Given the description of an element on the screen output the (x, y) to click on. 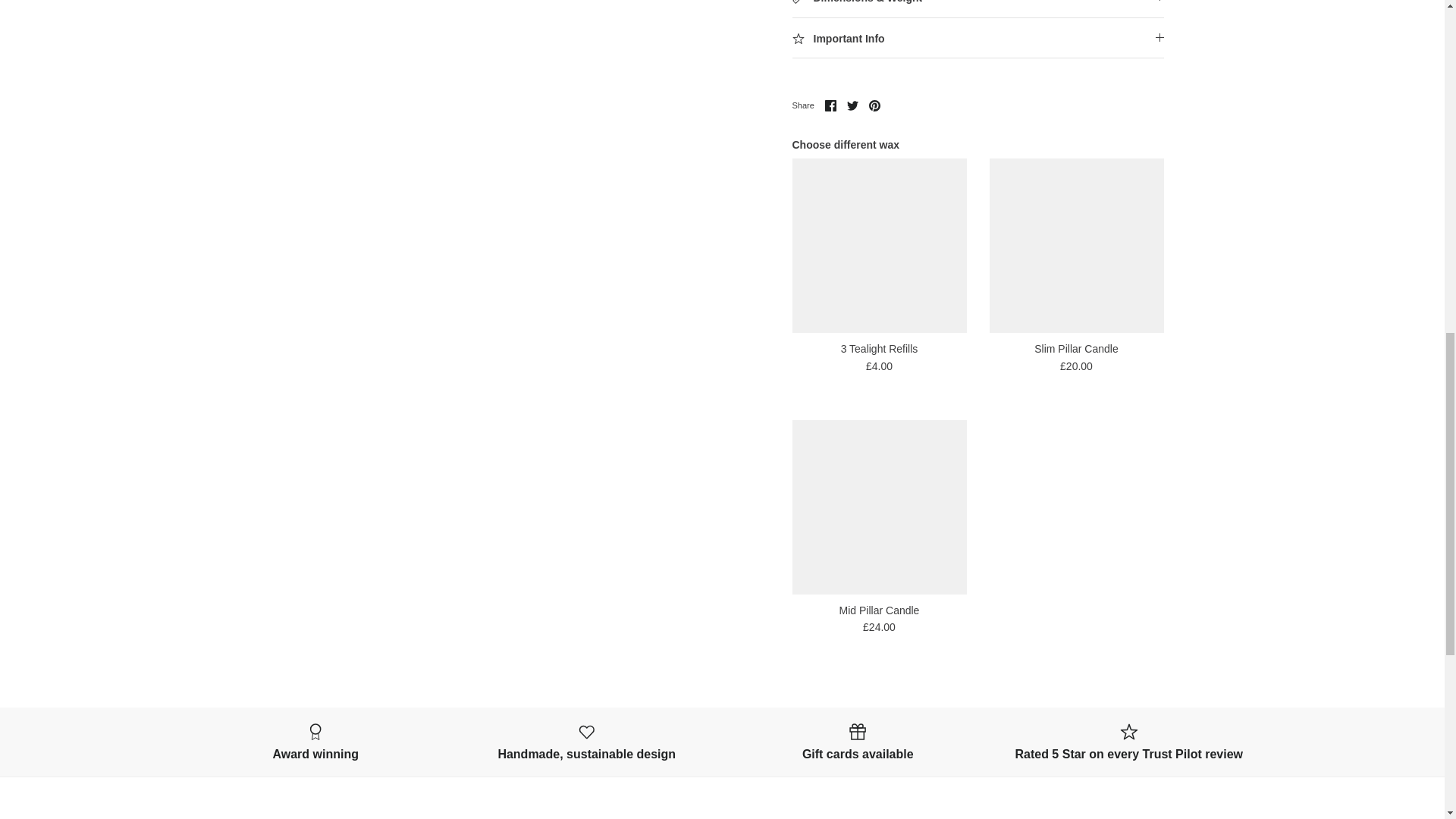
Pinterest (874, 105)
Facebook (830, 105)
Twitter (853, 105)
